Given the description of an element on the screen output the (x, y) to click on. 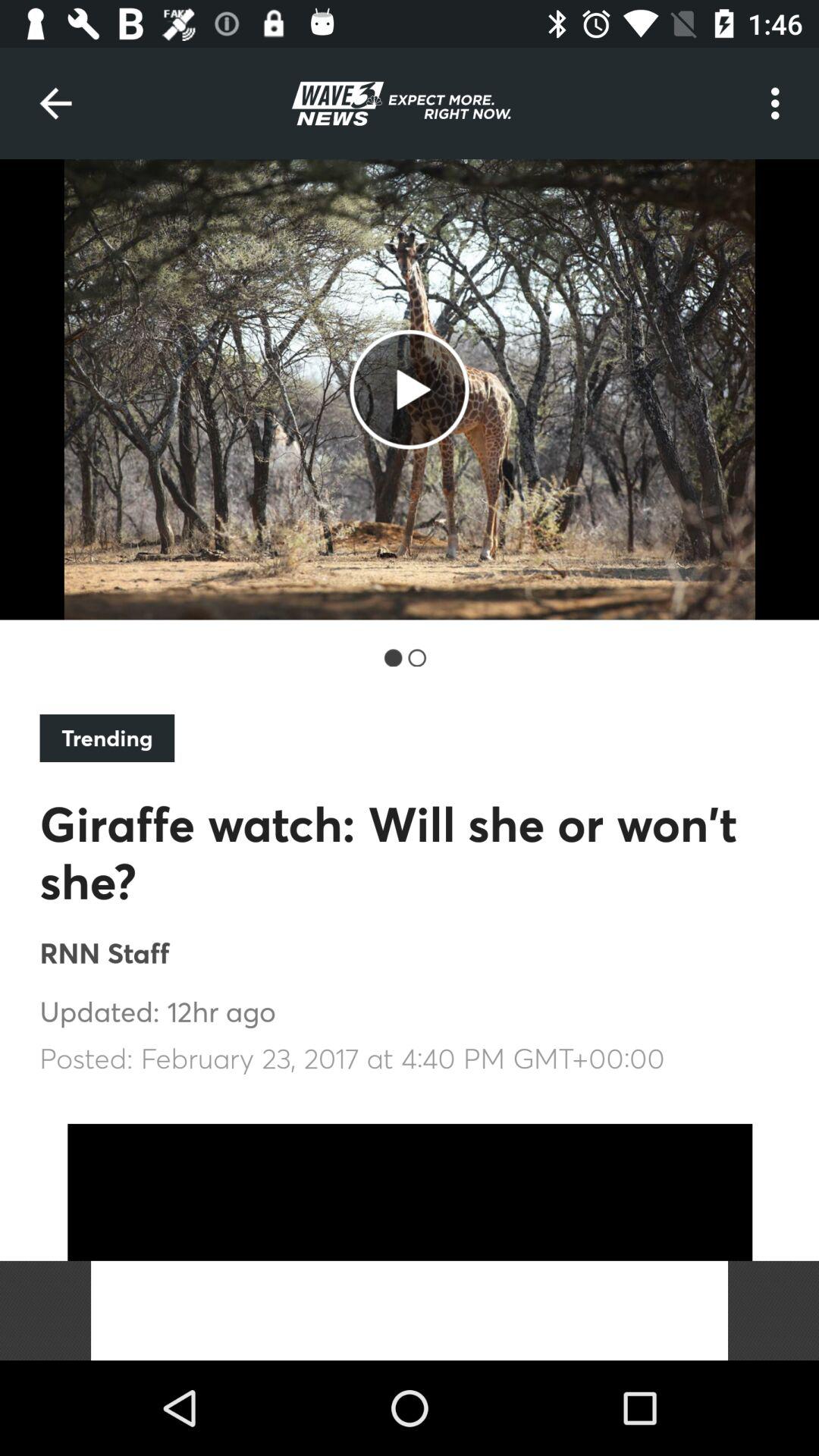
turn on trending icon (106, 738)
